Given the description of an element on the screen output the (x, y) to click on. 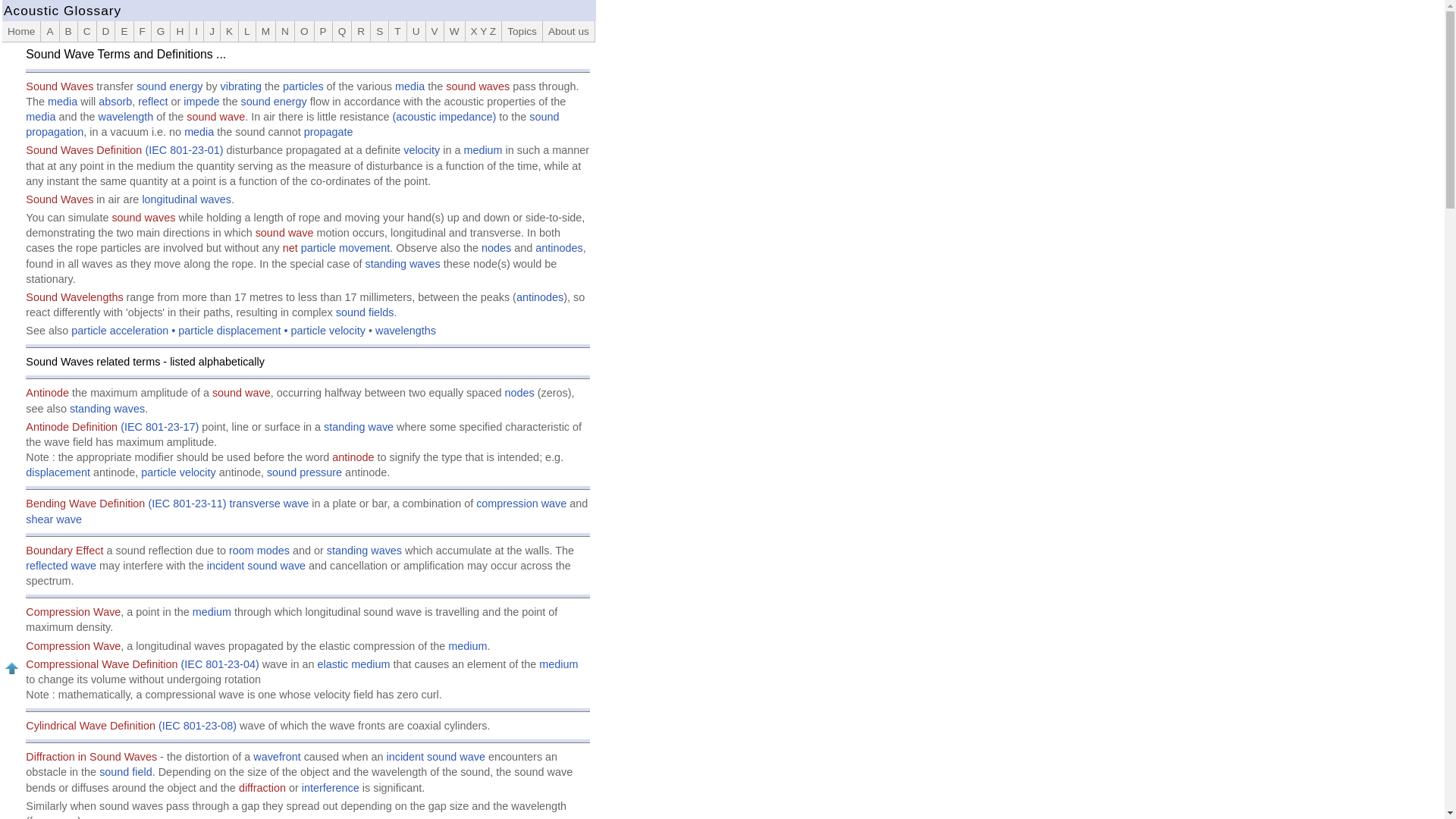
N (285, 31)
Bending Sound Waves (307, 511)
M (266, 31)
X Y Z (483, 31)
G (161, 31)
particles (302, 86)
Home (21, 31)
R (361, 31)
Sound Wavelength (307, 304)
H (179, 31)
